Given the description of an element on the screen output the (x, y) to click on. 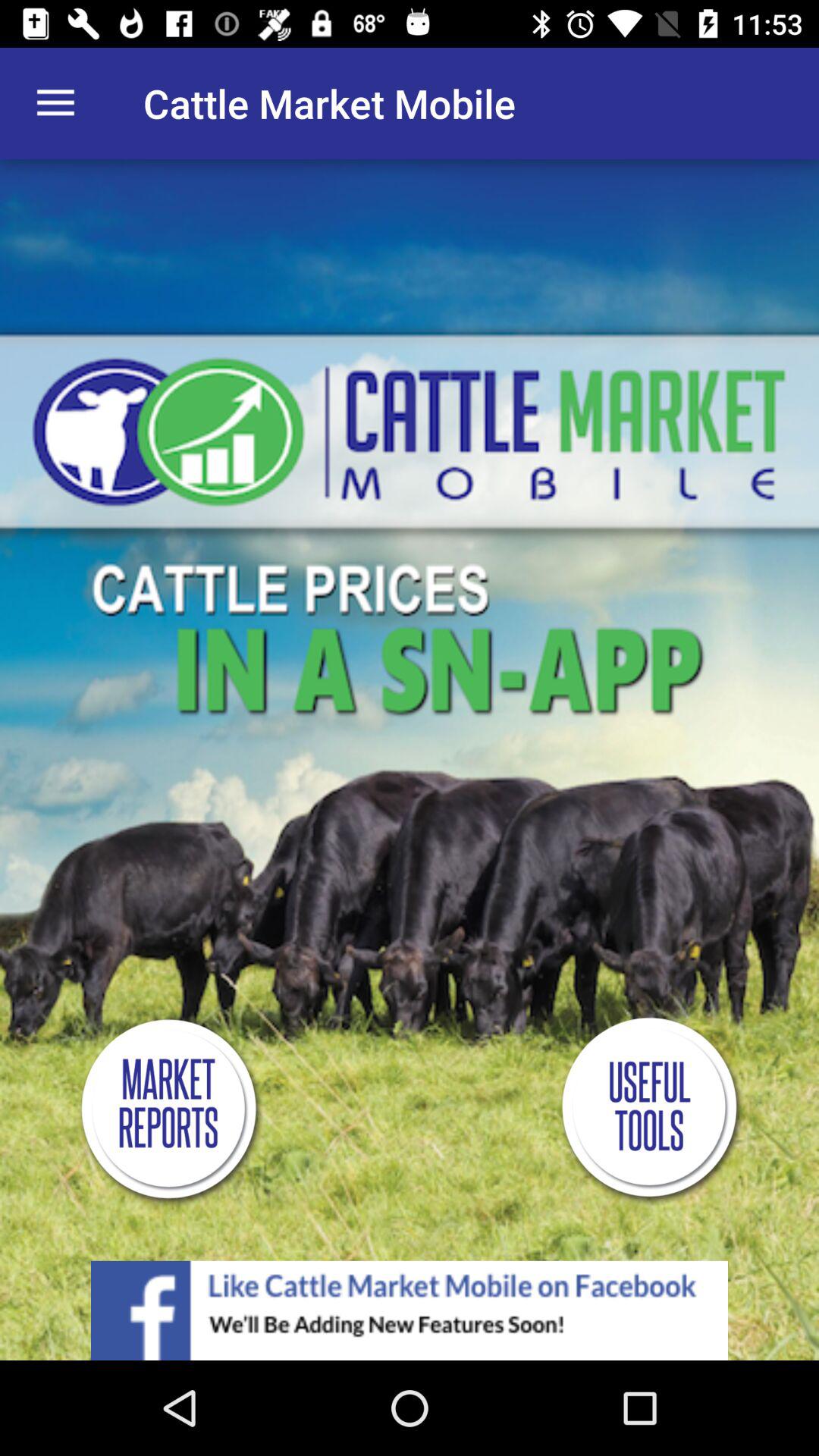
give a like on facebook (409, 1310)
